Given the description of an element on the screen output the (x, y) to click on. 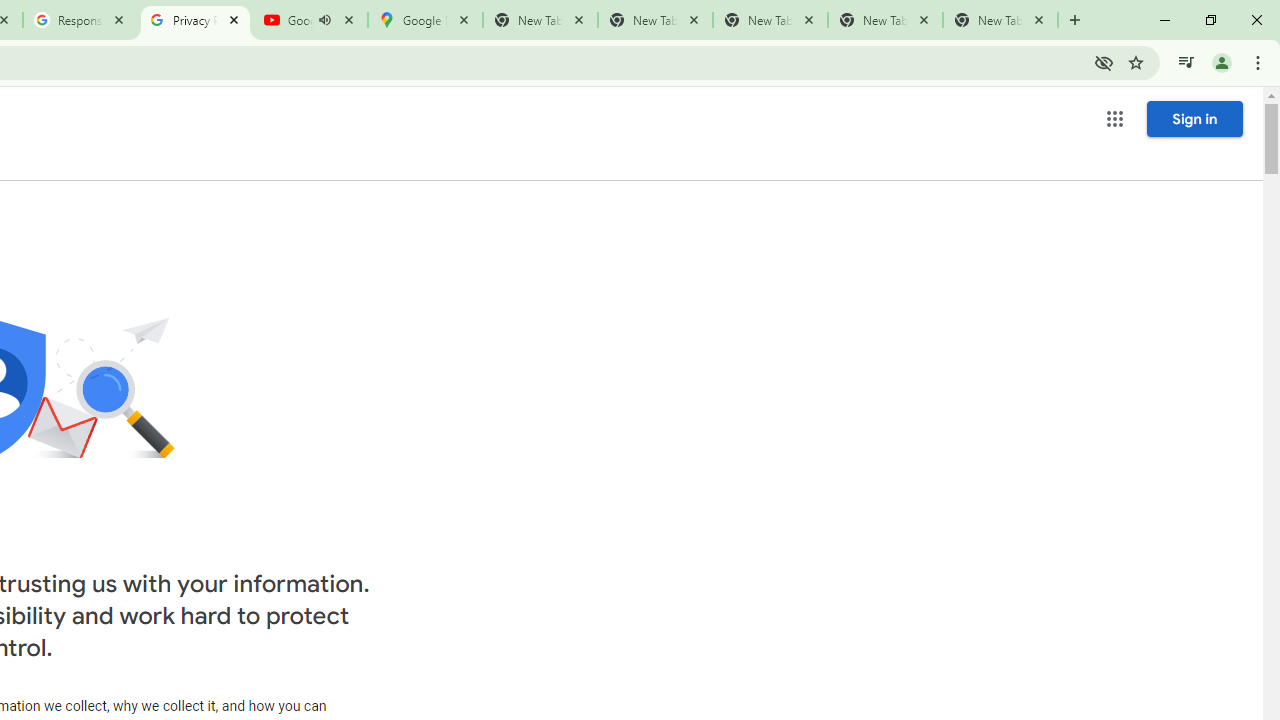
Control your music, videos, and more (1185, 62)
Third-party cookies blocked (1103, 62)
New Tab (1000, 20)
Mute tab (324, 20)
Sign in (1194, 118)
